Given the description of an element on the screen output the (x, y) to click on. 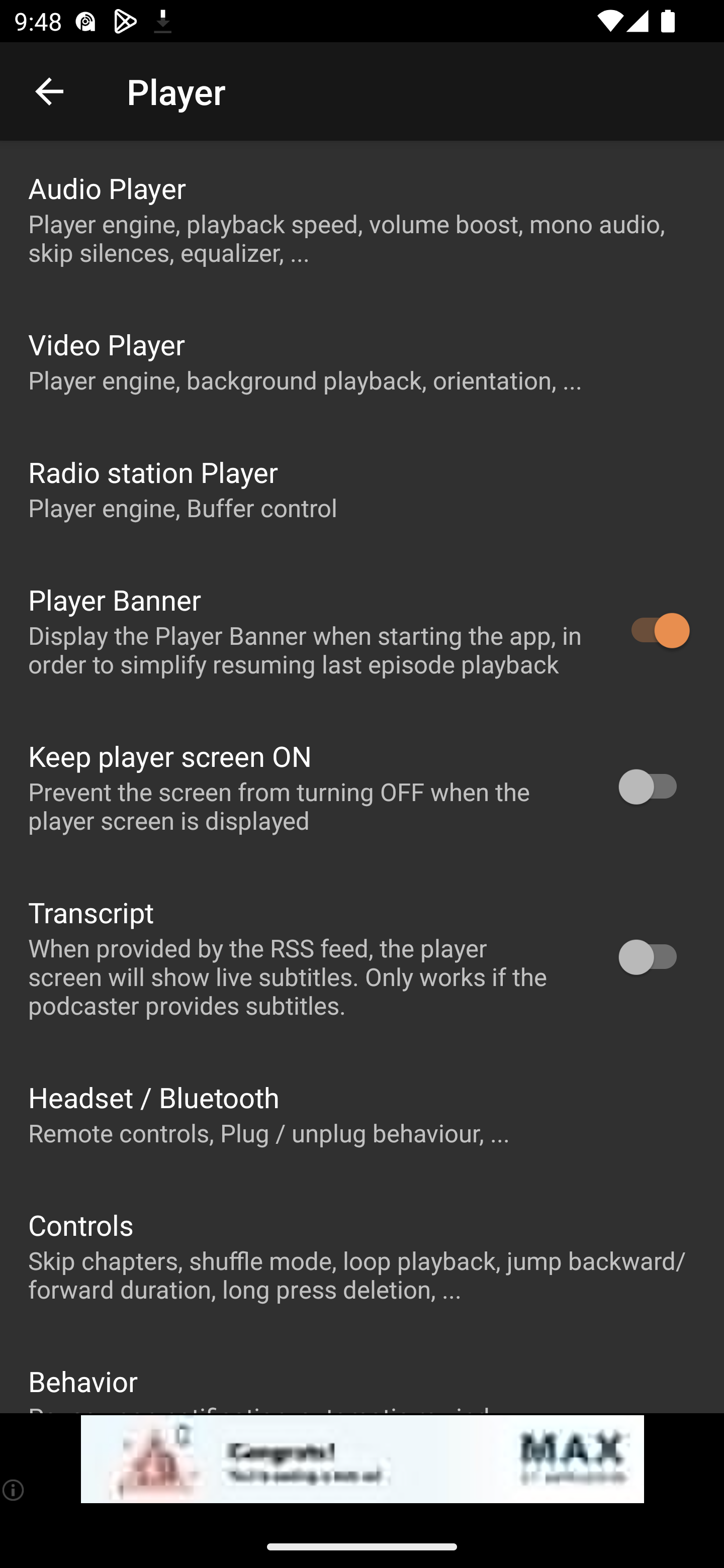
Navigate up (49, 91)
Radio station Player Player engine, Buffer control (362, 487)
app-monetization (362, 1459)
(i) (14, 1489)
